Given the description of an element on the screen output the (x, y) to click on. 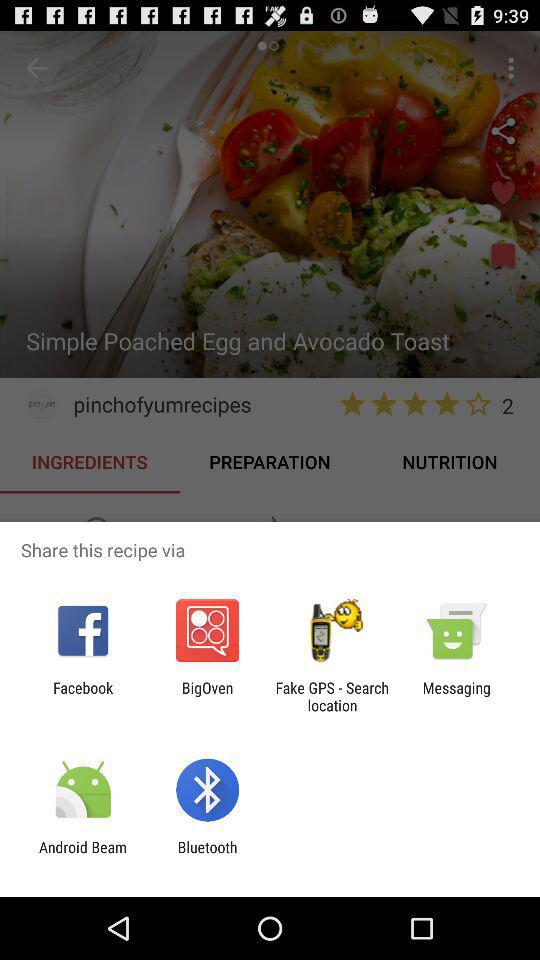
turn on the item next to the fake gps search item (456, 696)
